Given the description of an element on the screen output the (x, y) to click on. 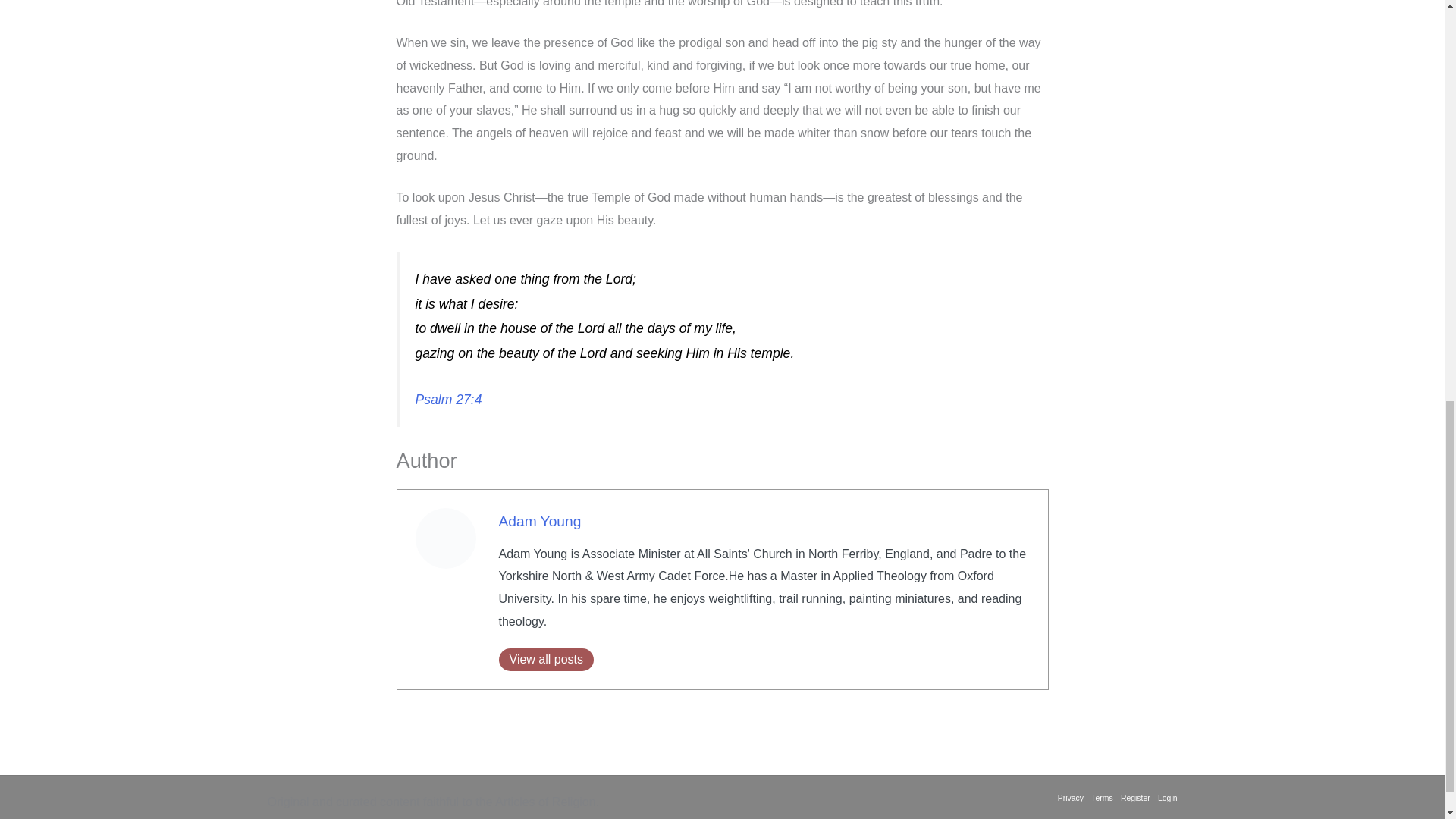
Privacy (1072, 798)
View all posts (546, 659)
Psalm 27:4 (447, 399)
View all posts (546, 659)
Adam Young (539, 521)
Adam Young (539, 521)
